Given the description of an element on the screen output the (x, y) to click on. 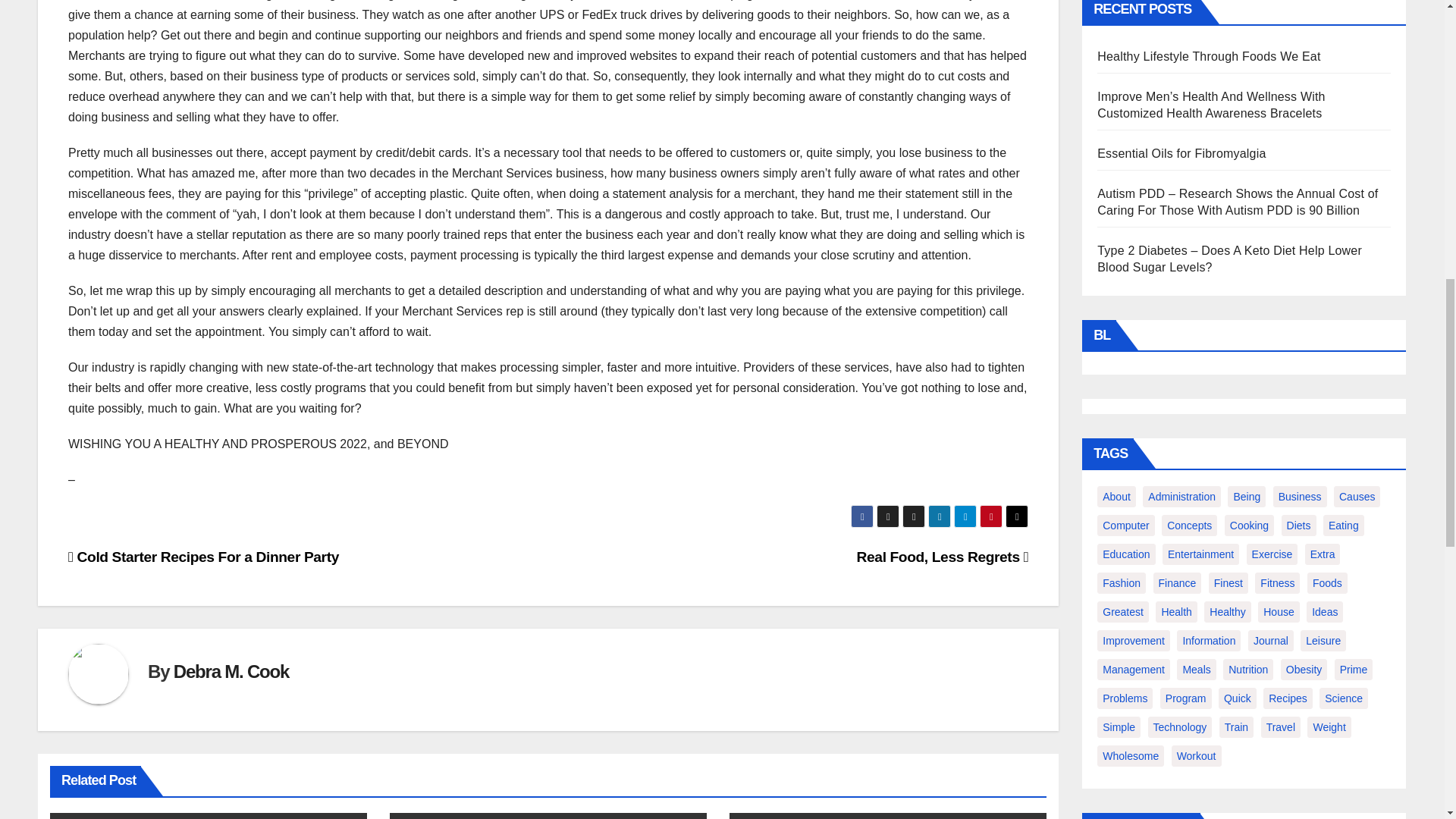
Debra M. Cook (230, 670)
Cold Starter Recipes For a Dinner Party (203, 556)
Real Food, Less Regrets (943, 556)
